Given the description of an element on the screen output the (x, y) to click on. 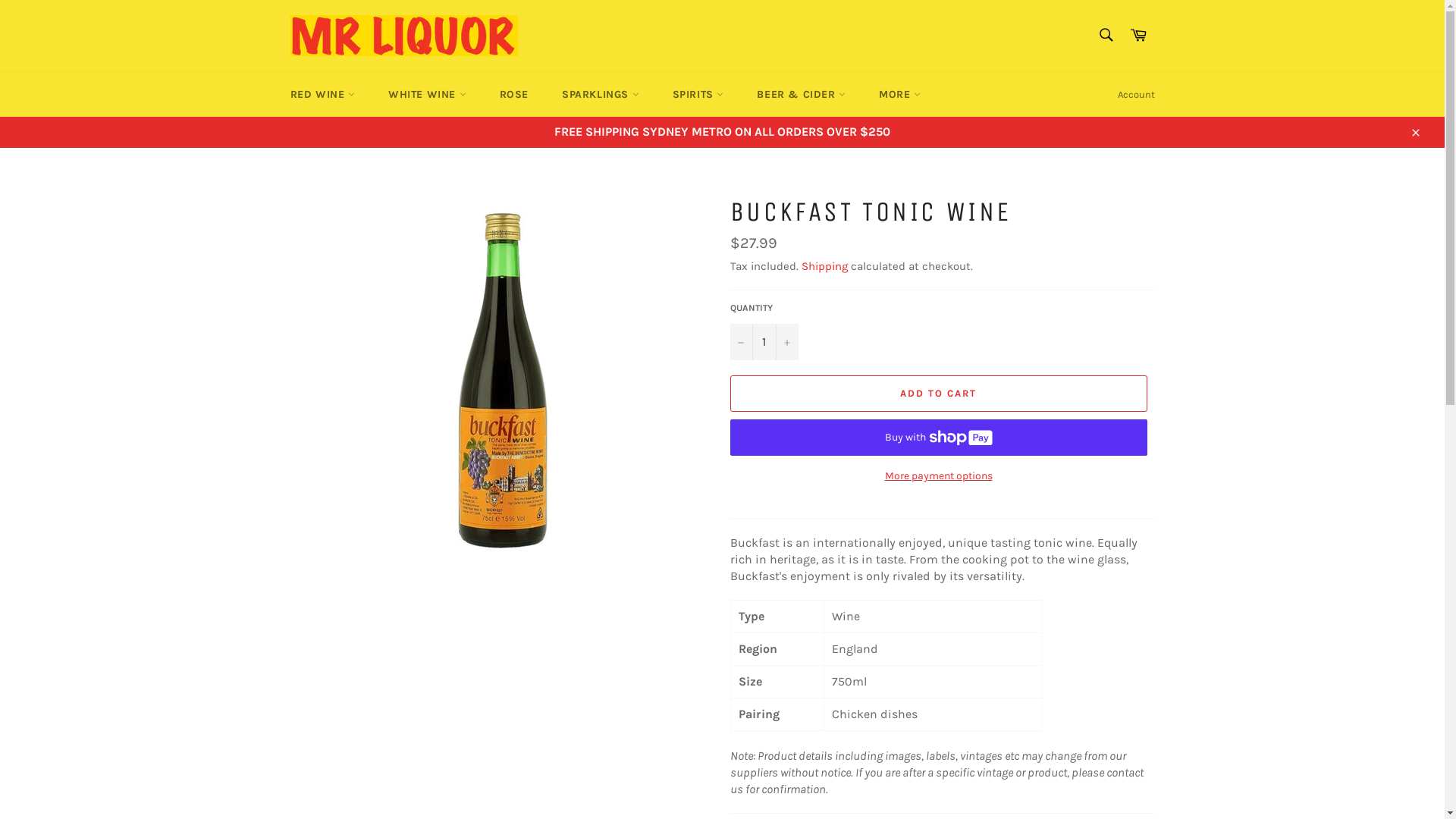
Account Element type: text (1136, 94)
Cart Element type: text (1138, 35)
SPARKLINGS Element type: text (600, 94)
MORE Element type: text (899, 94)
BEER & CIDER Element type: text (800, 94)
SPIRITS Element type: text (698, 94)
ROSE Element type: text (513, 94)
+ Element type: text (786, 341)
Search Element type: text (1105, 34)
RED WINE Element type: text (321, 94)
Close Element type: text (1414, 131)
ADD TO CART Element type: text (937, 393)
WHITE WINE Element type: text (427, 94)
More payment options Element type: text (937, 475)
Shipping Element type: text (823, 266)
